Given the description of an element on the screen output the (x, y) to click on. 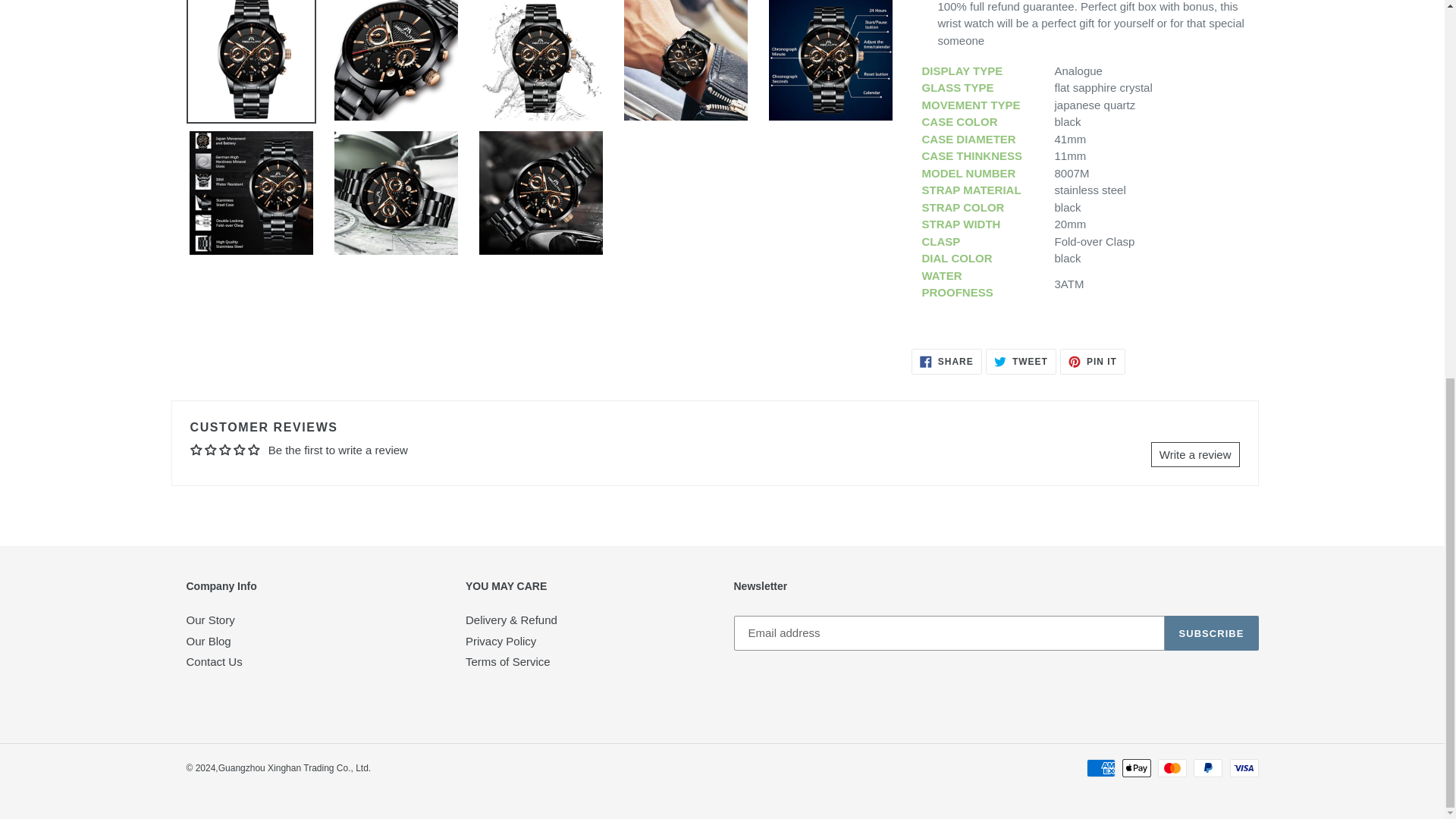
Our Blog (208, 640)
SUBSCRIBE (1211, 632)
Our Story (210, 619)
Terms of Service (507, 661)
Contact Us (1021, 361)
Write a review (214, 661)
Privacy Policy (946, 361)
